Given the description of an element on the screen output the (x, y) to click on. 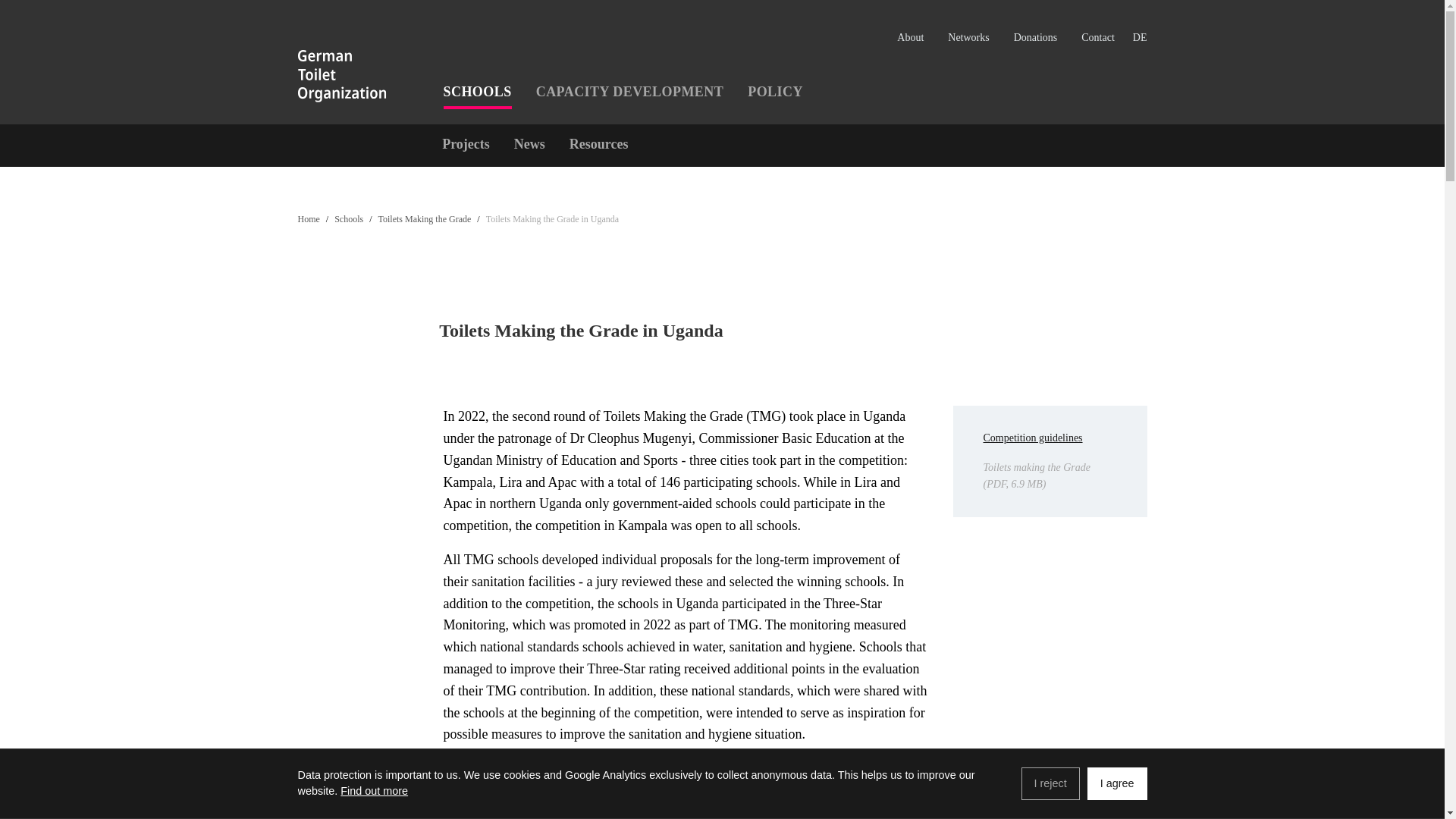
Contact (1098, 37)
POLICY (775, 92)
News (528, 144)
CAPACITY DEVELOPMENT (630, 92)
Home (307, 218)
Toilets Making the Grade (424, 218)
Projects (465, 144)
About (910, 37)
Donations (1035, 37)
SCHOOLS (476, 92)
